Given the description of an element on the screen output the (x, y) to click on. 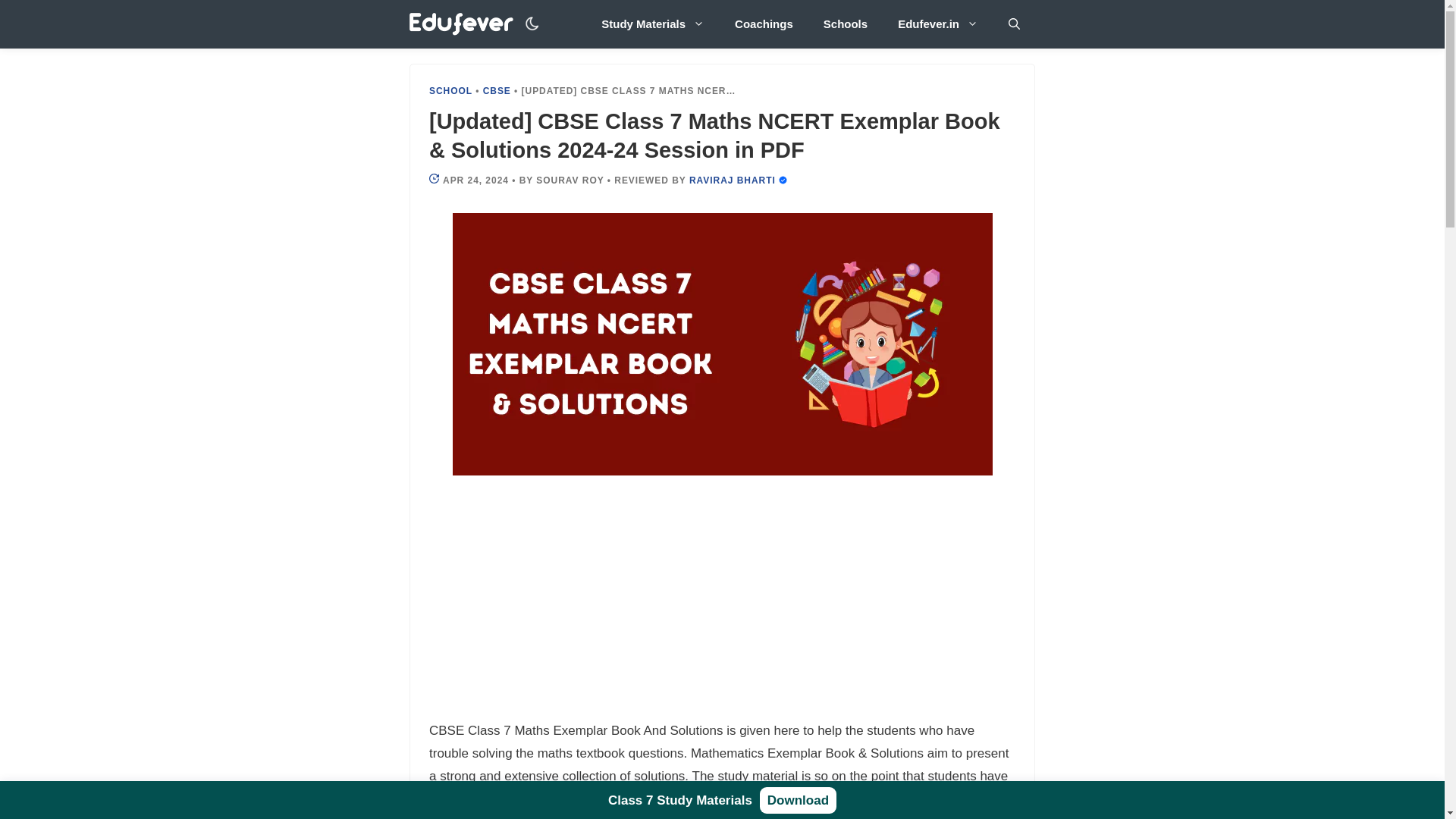
View all posts by Sourav Roy (569, 180)
Edufever (461, 24)
EDUFEVER EXPERT (782, 180)
Edufever Expert (732, 180)
Study Materials (652, 24)
Edufever School (465, 24)
Advertisement (722, 607)
